Given the description of an element on the screen output the (x, y) to click on. 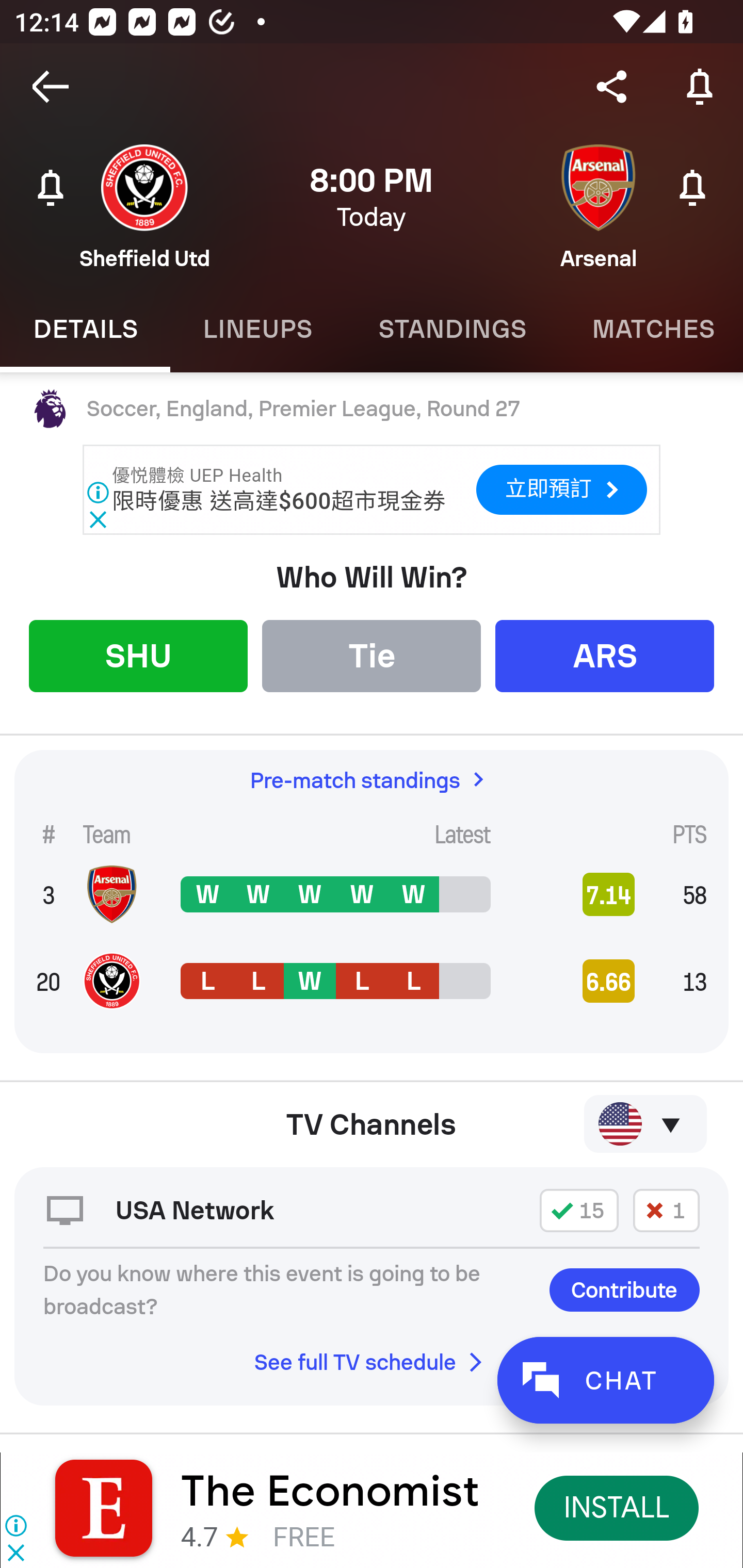
Navigate up (50, 86)
Lineups LINEUPS (257, 329)
Standings STANDINGS (451, 329)
Matches MATCHES (650, 329)
Soccer, England, Premier League, Round 27 (371, 409)
立即預訂 (560, 489)
優悦體檢 UEP Health (197, 475)
限時優惠 送高達$600超市現金券 (279, 500)
SHU (137, 655)
Tie (371, 655)
ARS (604, 655)
15 (578, 1210)
1 (666, 1210)
Contribute (624, 1289)
See full TV schedule (371, 1361)
CHAT (605, 1380)
The Economist (329, 1490)
INSTALL (615, 1507)
